Given the description of an element on the screen output the (x, y) to click on. 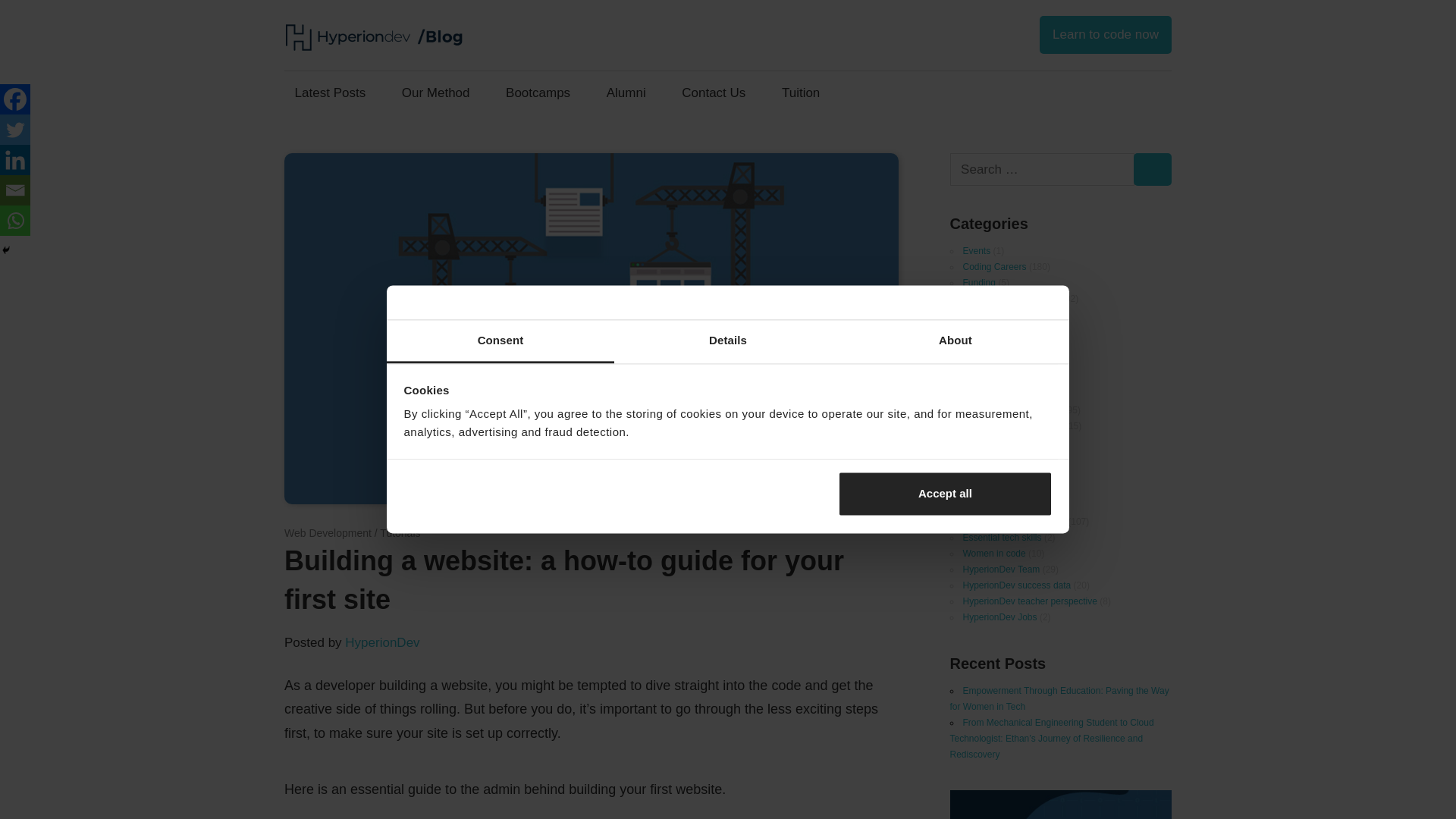
Consent (500, 341)
Details (727, 341)
About (954, 341)
